Given the description of an element on the screen output the (x, y) to click on. 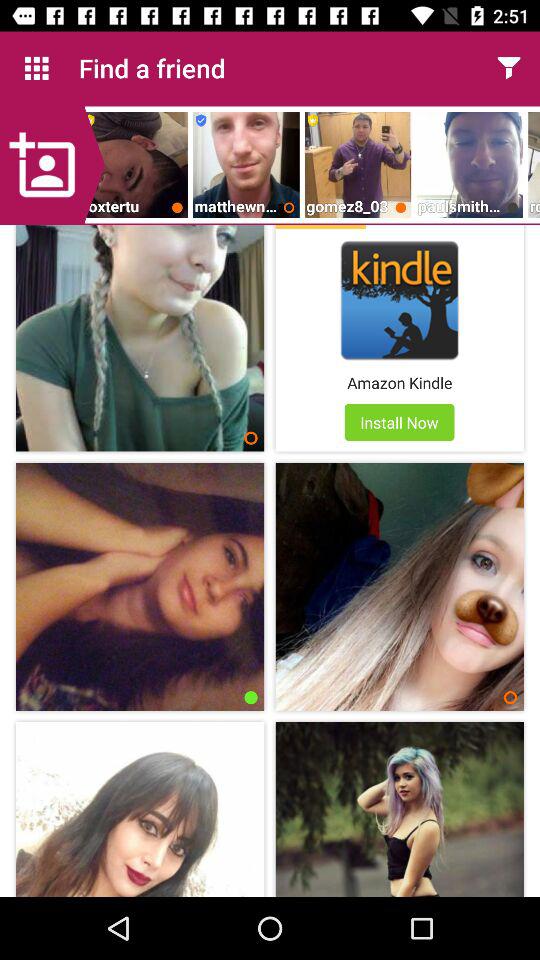
install kindle (399, 300)
